Given the description of an element on the screen output the (x, y) to click on. 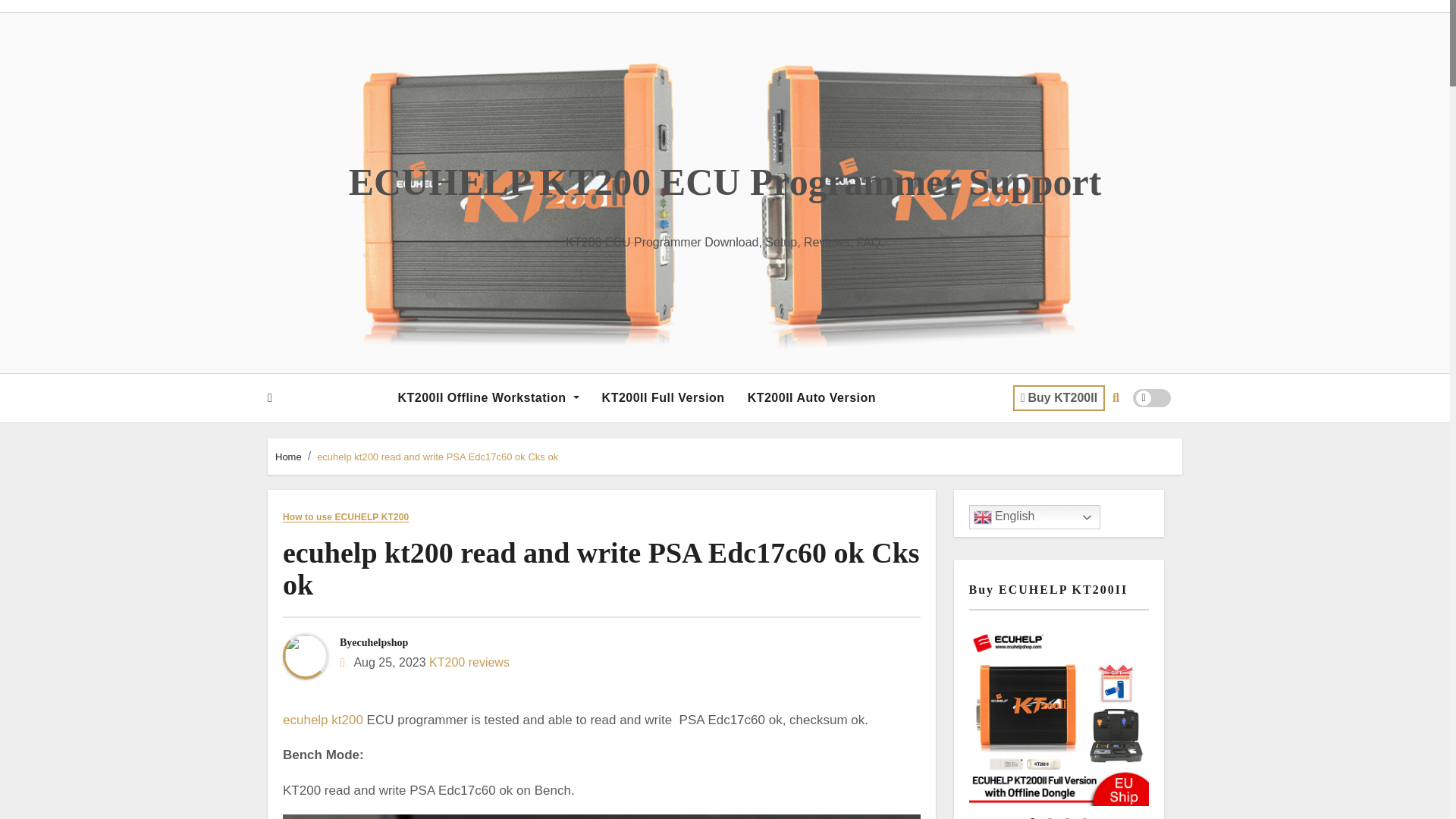
Buy KT200II (1059, 397)
KT200II Full Version (663, 397)
Home (288, 456)
ECUHELP KT200 ECU Programmer Support (725, 181)
KT200II Offline Workstation (487, 397)
ecuhelpshop (379, 642)
KT200II Full Version (663, 397)
ecuhelp kt200 (322, 719)
ecuhelp kt200 read and write PSA Edc17c60 ok Cks ok (601, 568)
KT200 reviews (469, 662)
KT200II Auto Version (811, 397)
KT200II Offline Workstation (487, 397)
How to use ECUHELP KT200 (345, 517)
KT200II Auto Version (811, 397)
